Given the description of an element on the screen output the (x, y) to click on. 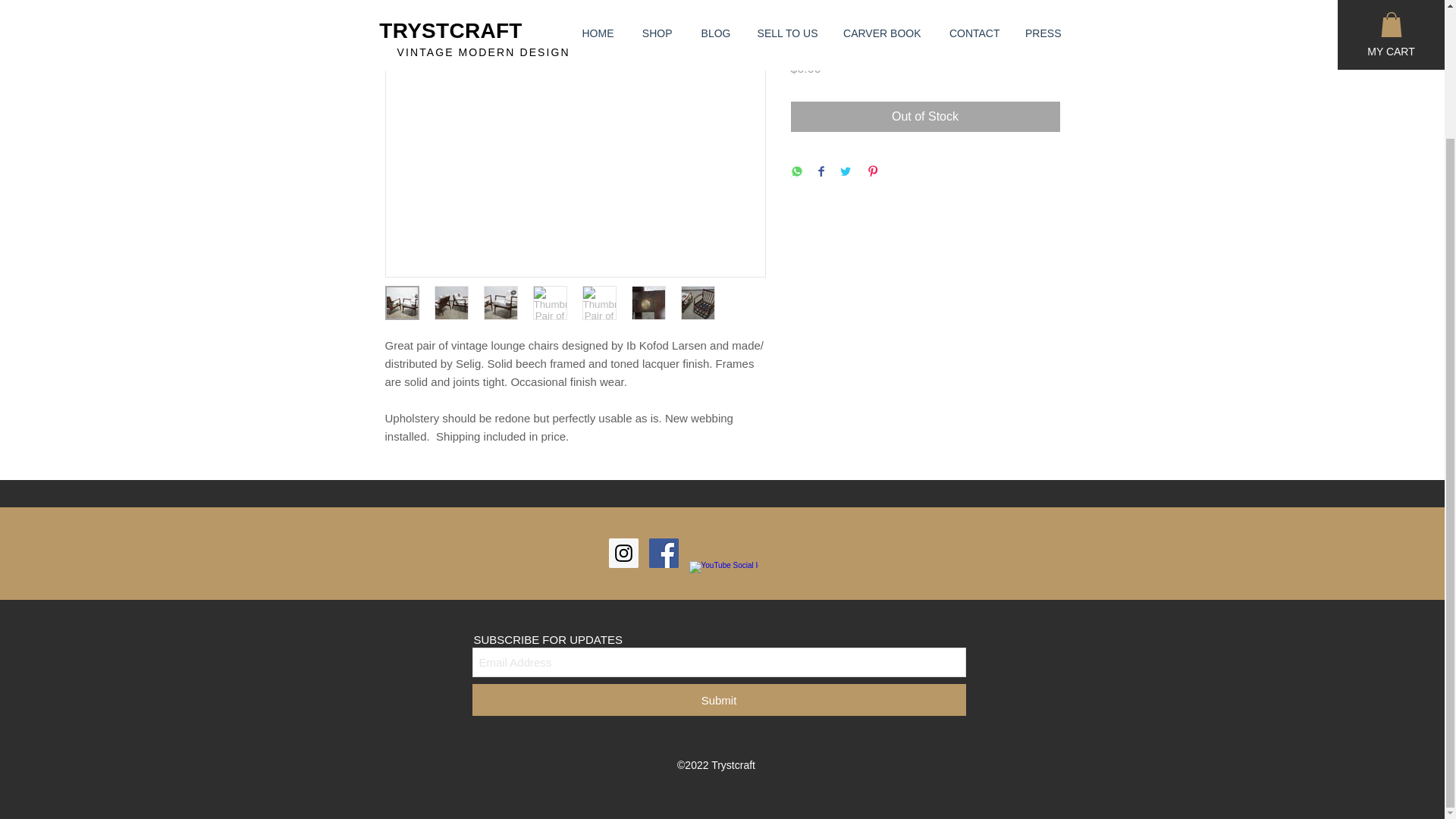
Out of Stock (924, 116)
Submit (718, 699)
